Given the description of an element on the screen output the (x, y) to click on. 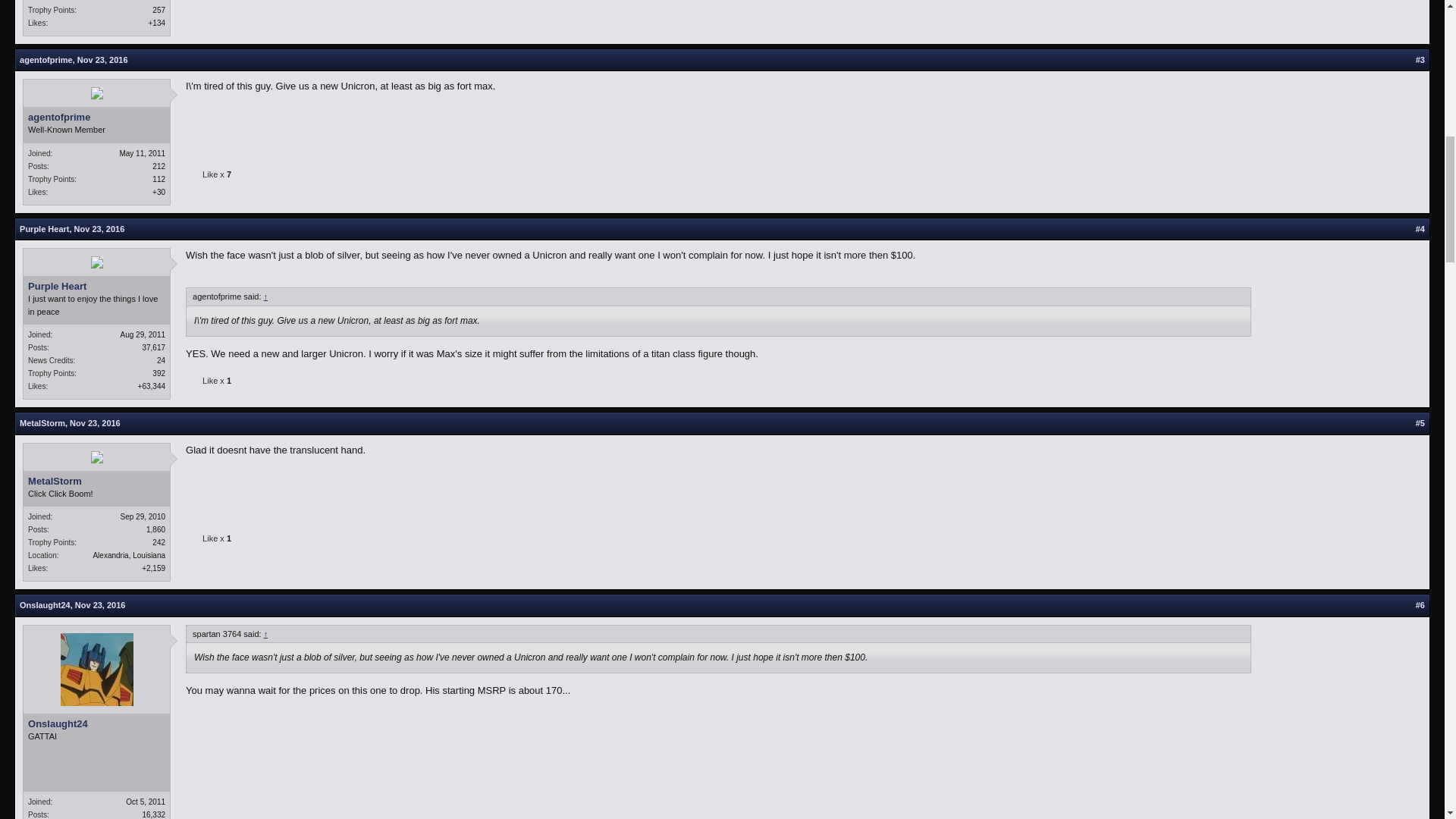
Permalink (94, 422)
Like (193, 381)
Like (193, 175)
Permalink (102, 59)
Permalink (99, 228)
